Given the description of an element on the screen output the (x, y) to click on. 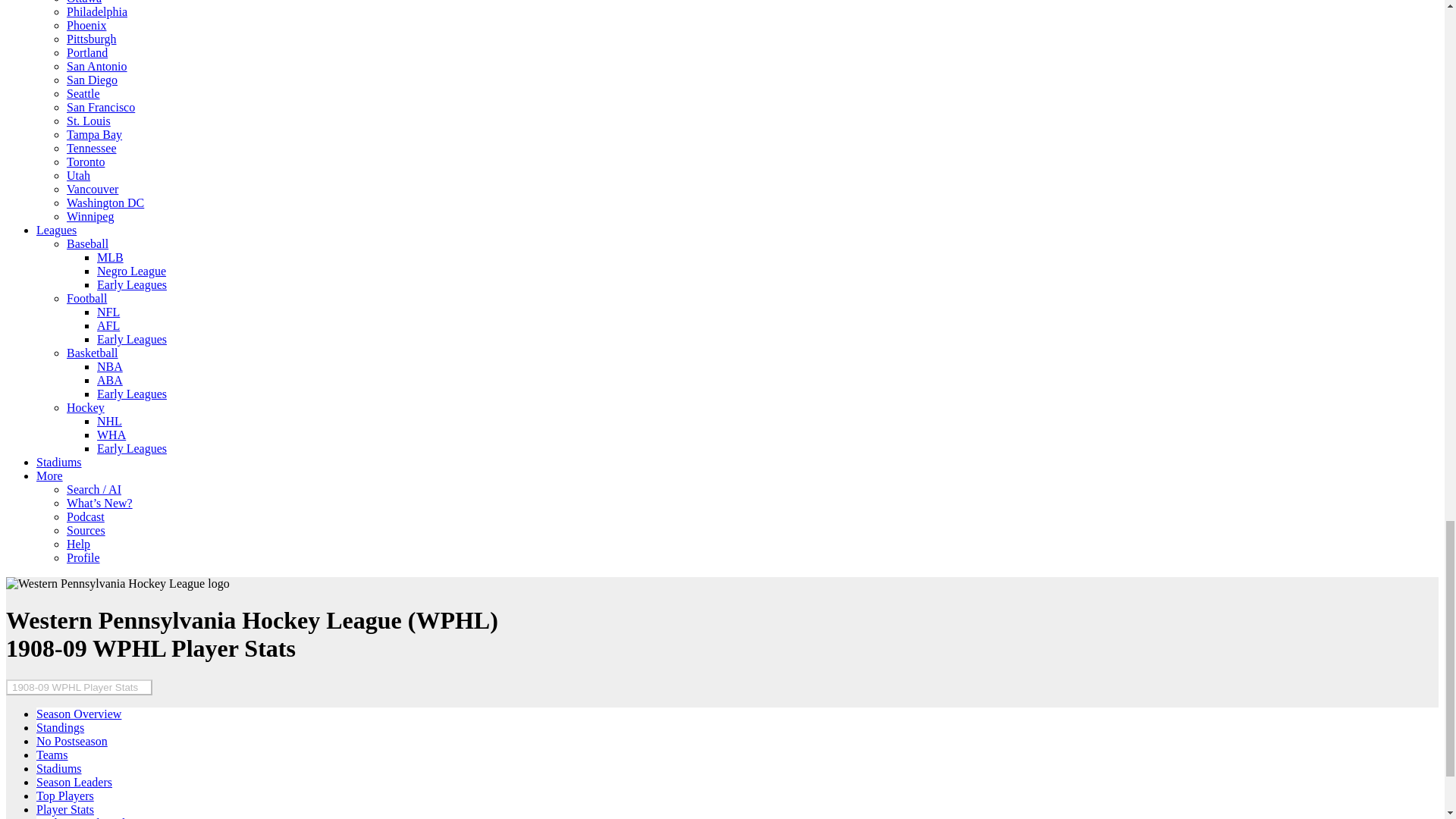
Western Pennsylvania Hockey League logo (117, 583)
